Given the description of an element on the screen output the (x, y) to click on. 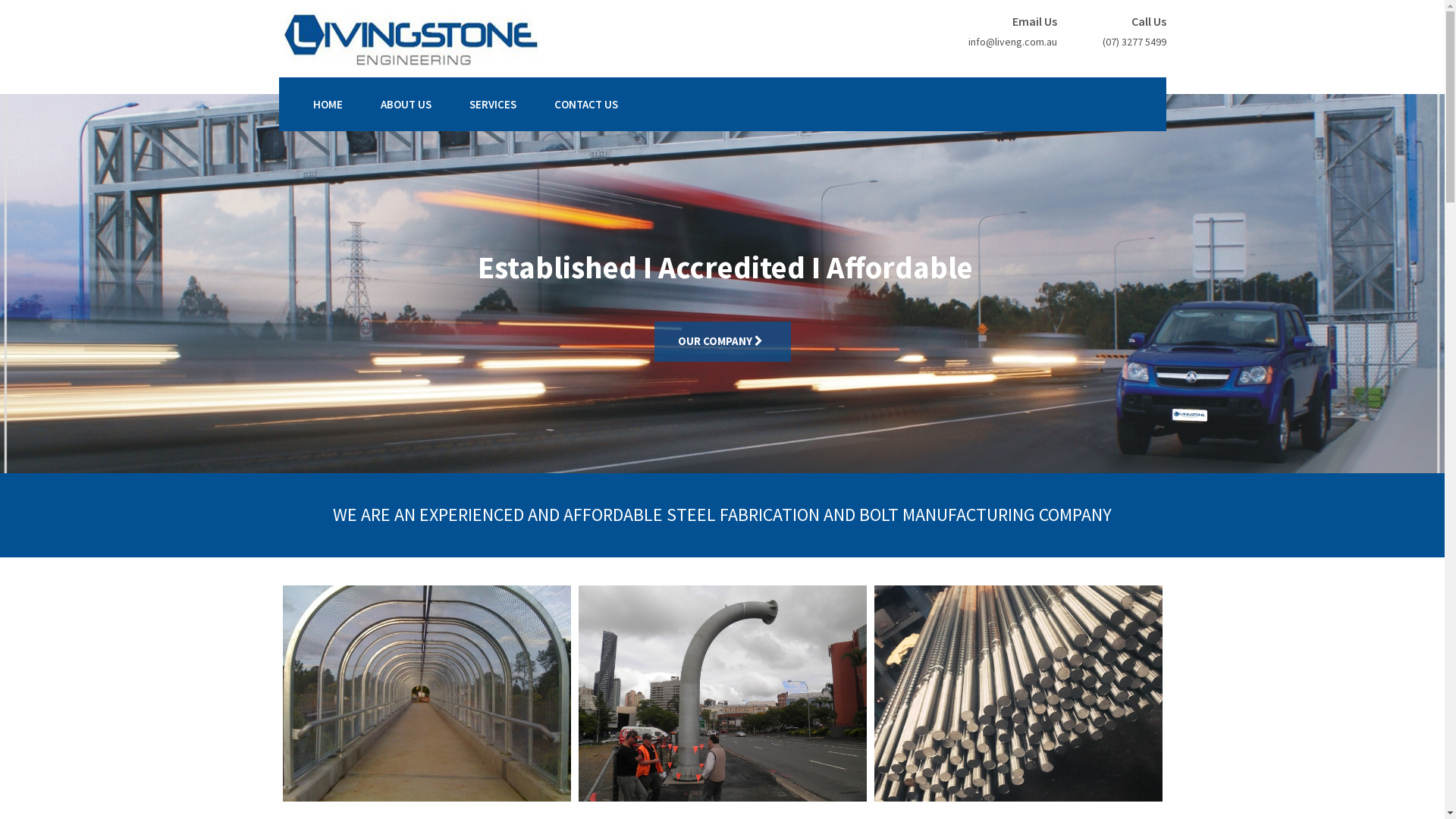
SERVICES Element type: text (492, 103)
HOME Element type: text (326, 103)
CONTACT US Element type: text (585, 103)
ABOUT US Element type: text (406, 103)
